Given the description of an element on the screen output the (x, y) to click on. 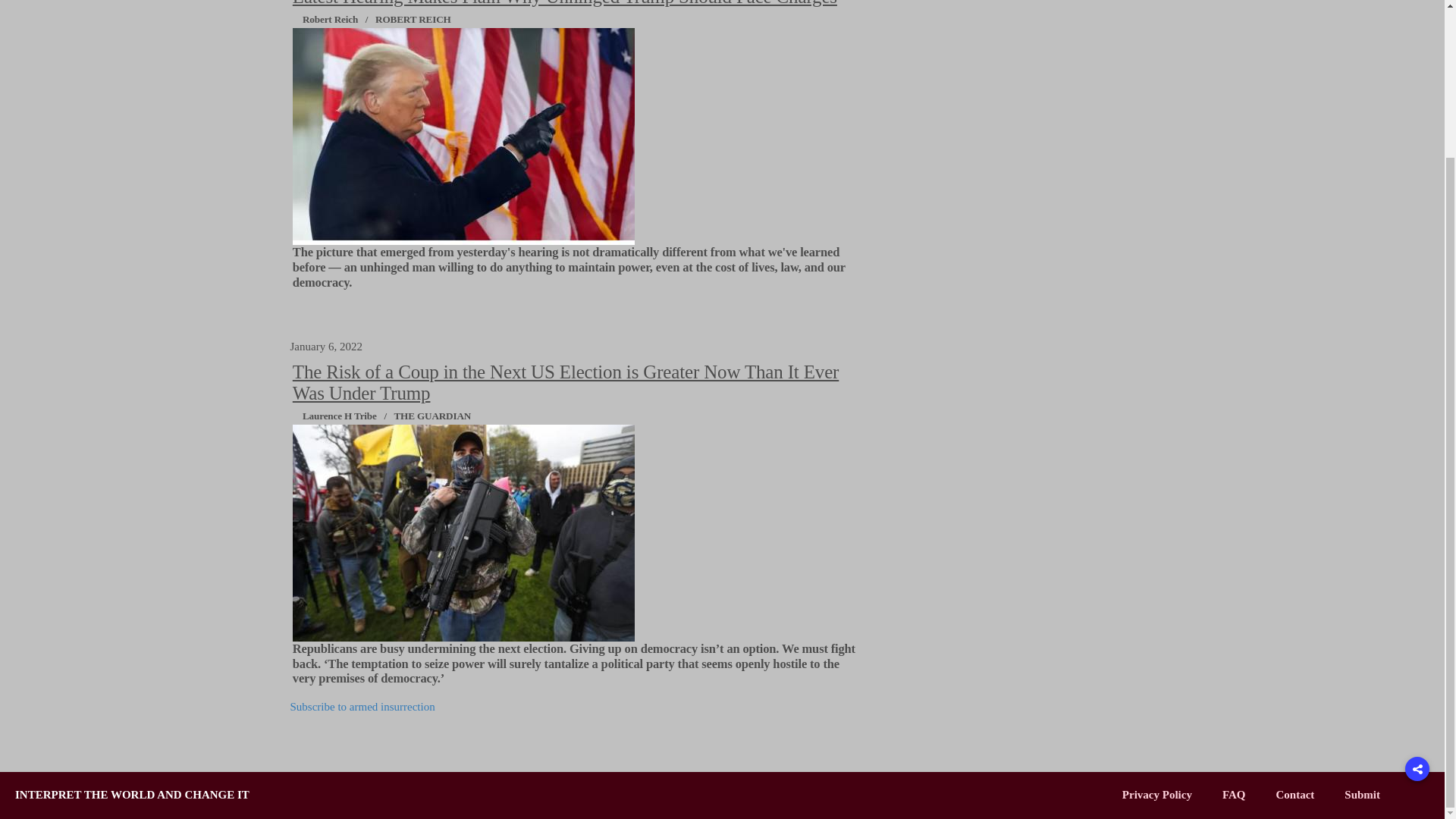
Share (1417, 584)
Privacy Policy (1157, 794)
Frequently Asked Questions (1234, 794)
INTERPRET THE WORLD AND CHANGE IT (131, 794)
Submit (1361, 794)
Subscribe to armed insurrection (361, 706)
Submit an article to Portside (1361, 794)
Contact (1294, 794)
FAQ (1234, 794)
